Given the description of an element on the screen output the (x, y) to click on. 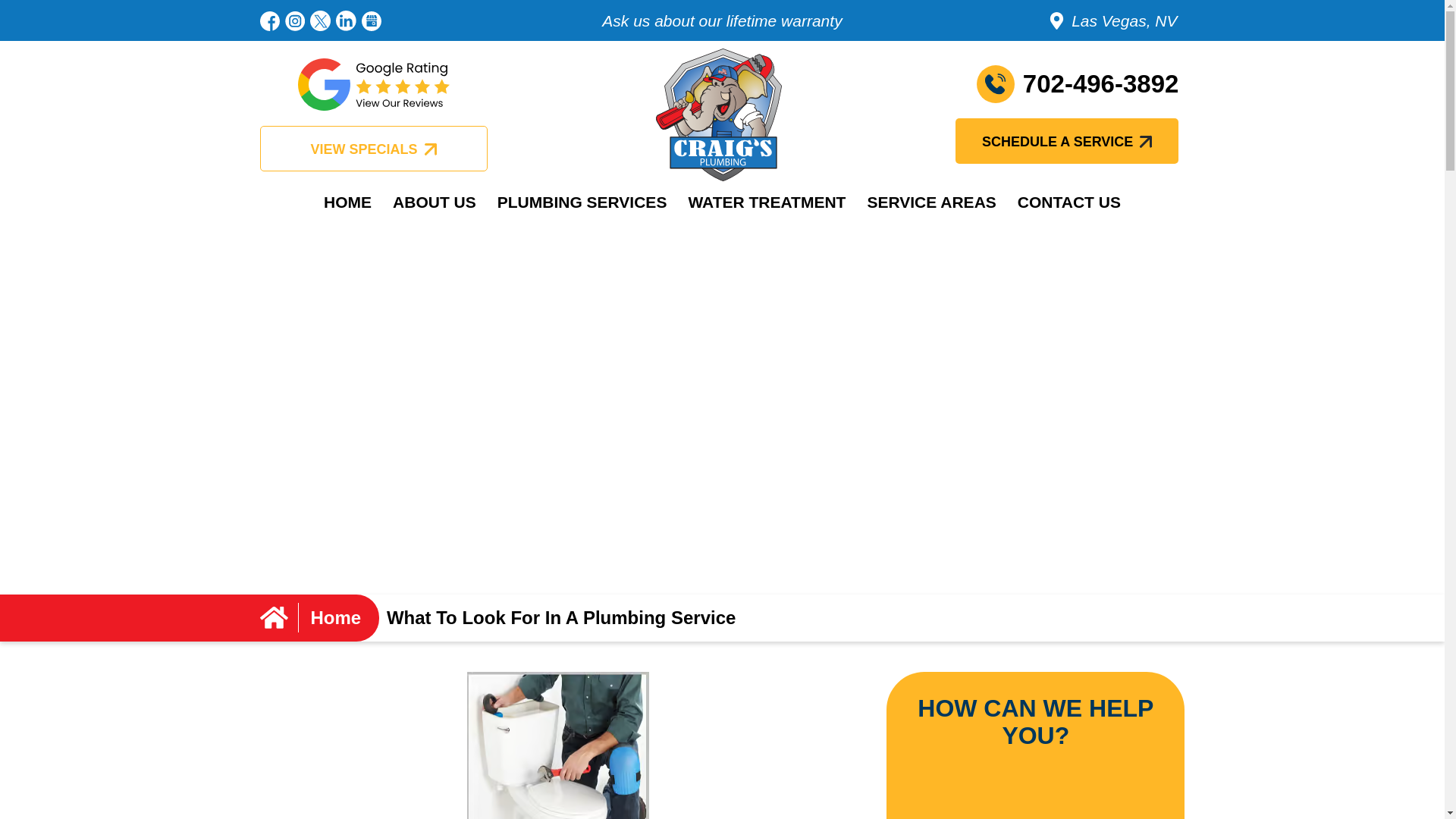
PLUMBING SERVICES (582, 202)
SERVICE AREAS (931, 202)
VIEW SPECIALS (372, 125)
ABOUT US (434, 202)
WATER TREATMENT (766, 202)
Las Vegas, NV (1031, 3)
HOME (346, 202)
SCHEDULE A SERVICE (1066, 126)
702-496-3892 (1039, 84)
